Given the description of an element on the screen output the (x, y) to click on. 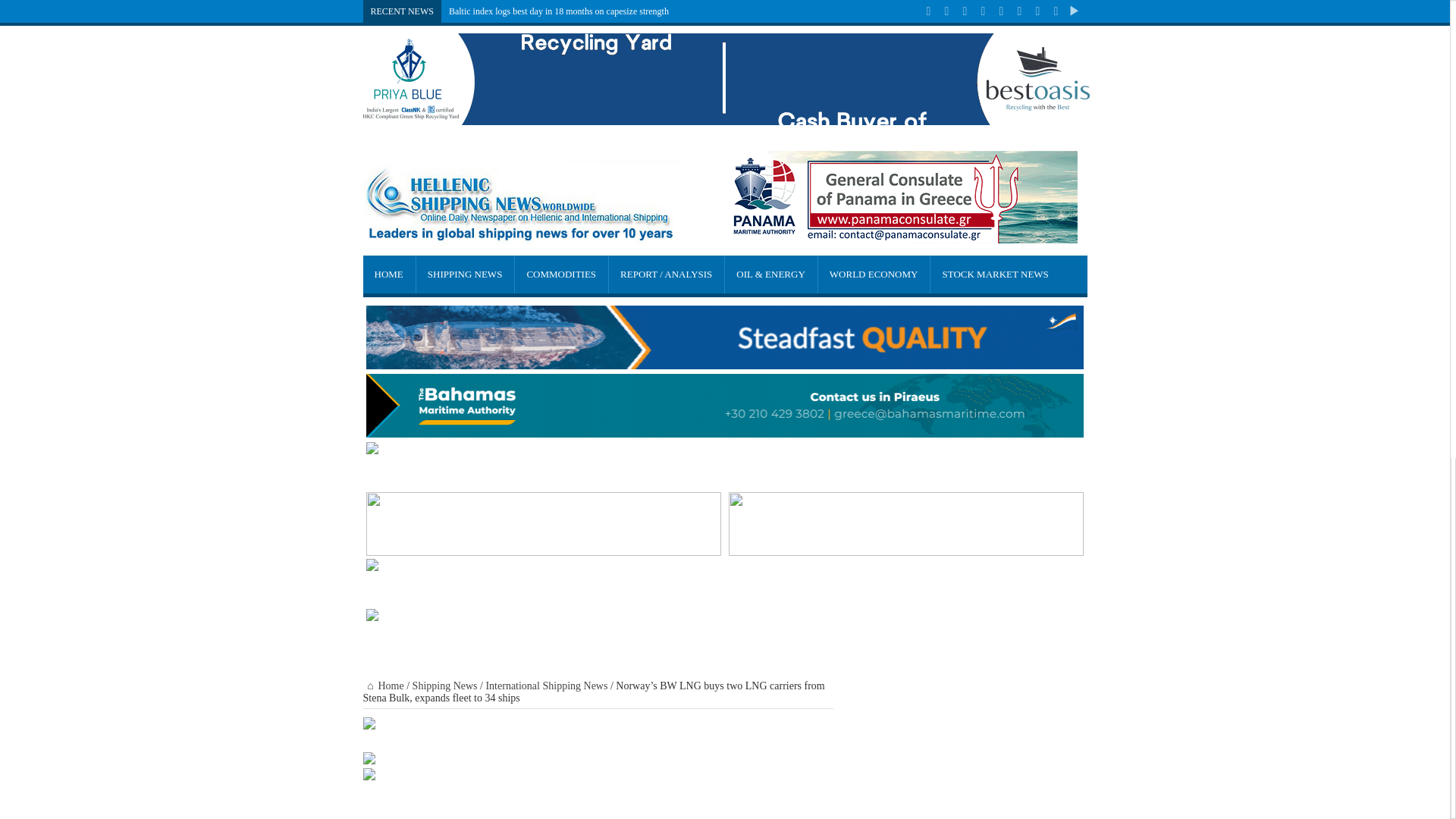
SHIPPING NEWS (463, 274)
Baltic index logs best day in 18 months on capesize strength (558, 11)
Hellenic Shipping News Worldwide (520, 234)
COMMODITIES (560, 274)
Baltic index logs best day in 18 months on capesize strength (558, 11)
HOME (387, 274)
